Given the description of an element on the screen output the (x, y) to click on. 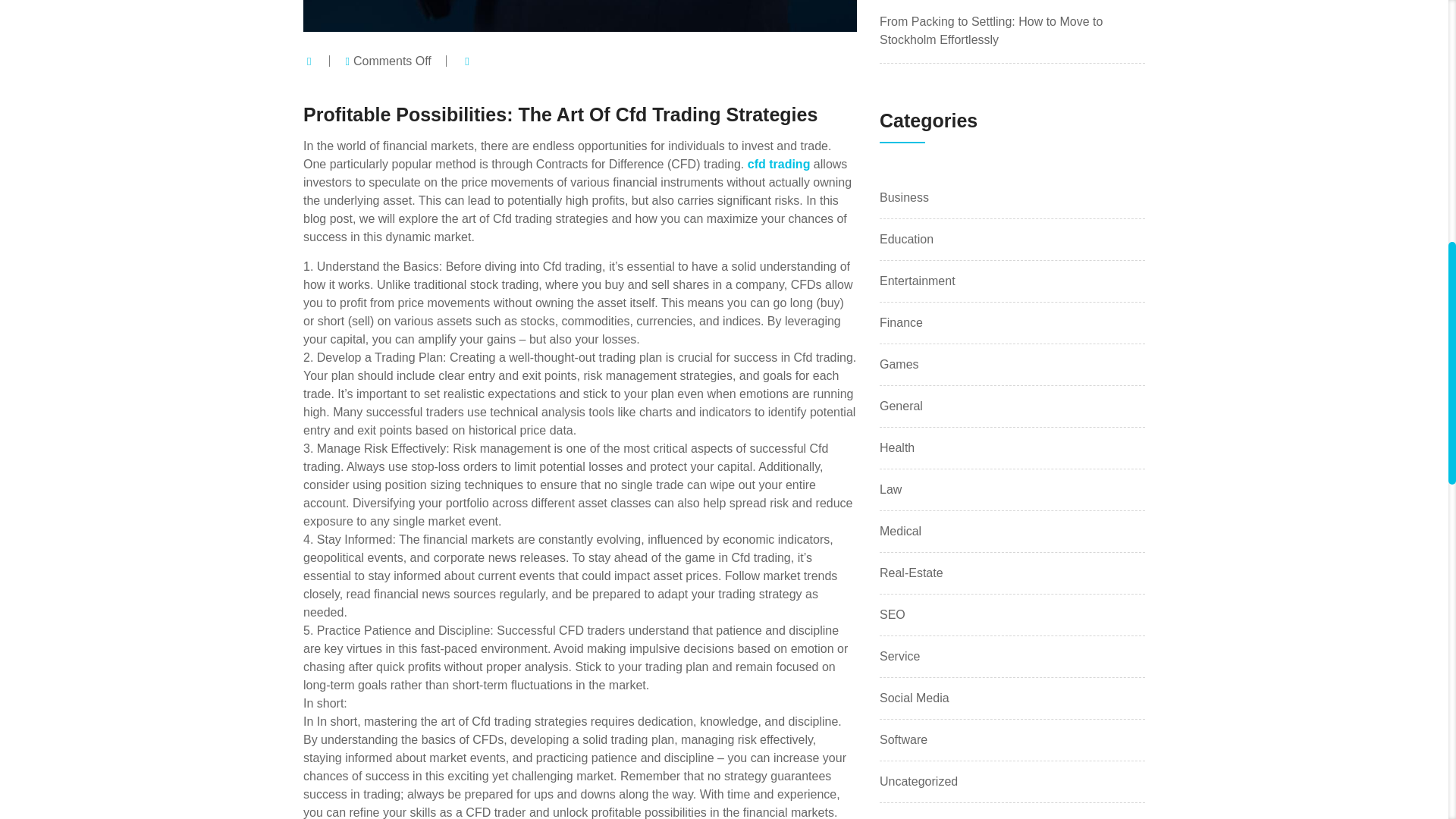
Social Media (914, 698)
Business (903, 198)
Games (898, 364)
Uncategorized (918, 782)
Law (890, 489)
cfd trading (779, 164)
Real-Estate (911, 573)
Finance (901, 322)
Entertainment (917, 280)
